Given the description of an element on the screen output the (x, y) to click on. 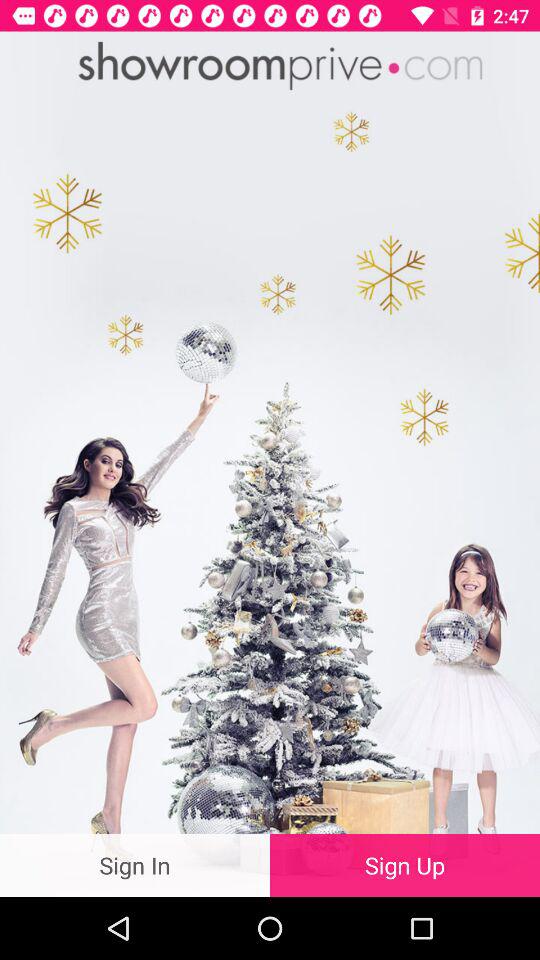
press the icon to the left of the sign up item (135, 864)
